Given the description of an element on the screen output the (x, y) to click on. 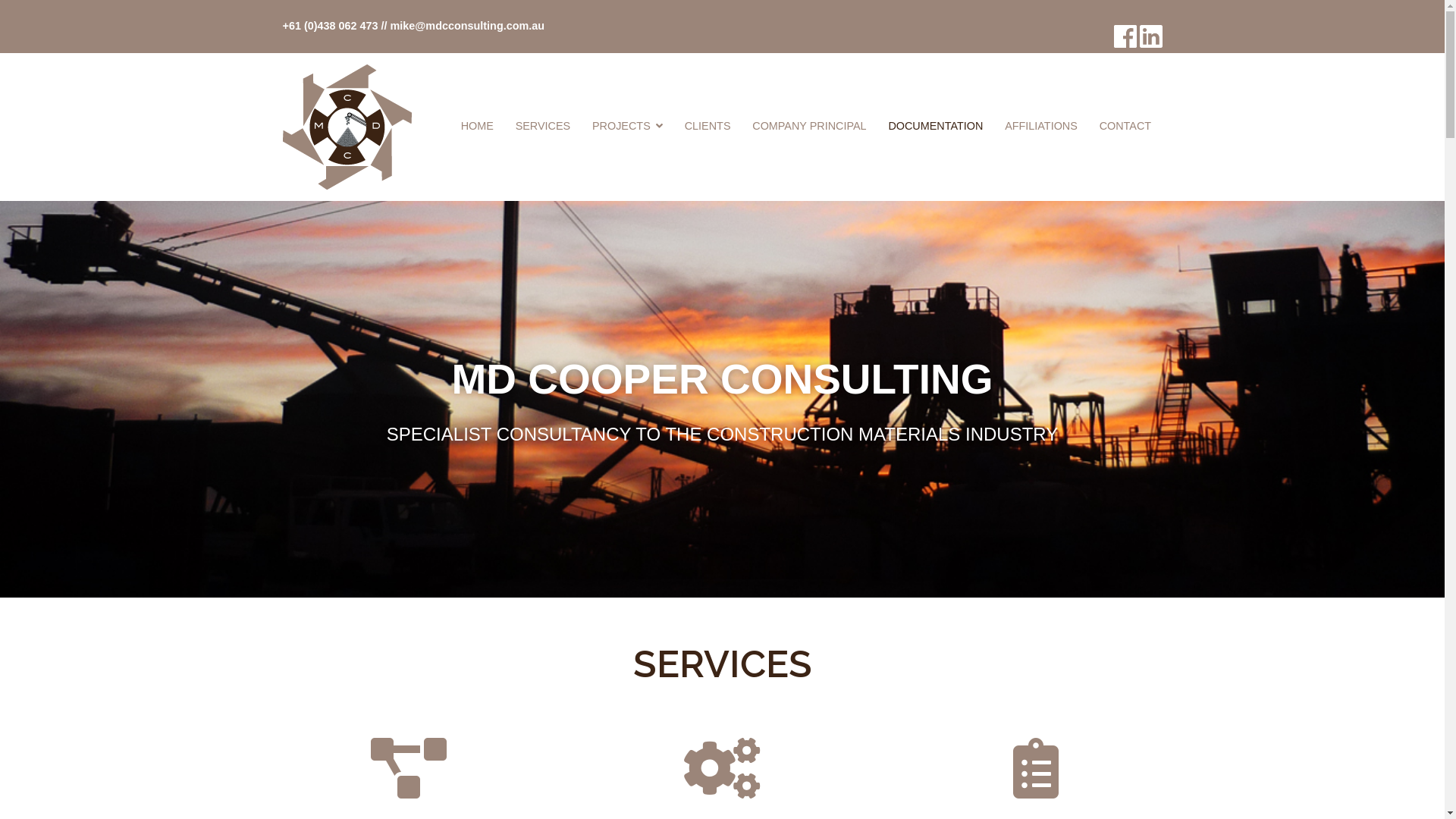
CONTACT Element type: text (1125, 126)
COMPANY PRINCIPAL Element type: text (809, 126)
MD Cooper Consulting Element type: text (498, 136)
AFFILIATIONS Element type: text (1040, 126)
HOME Element type: text (477, 126)
DOCUMENTATION Element type: text (935, 126)
PROJECTS Element type: text (627, 126)
SERVICES Element type: text (543, 126)
CLIENTS Element type: text (707, 126)
